Given the description of an element on the screen output the (x, y) to click on. 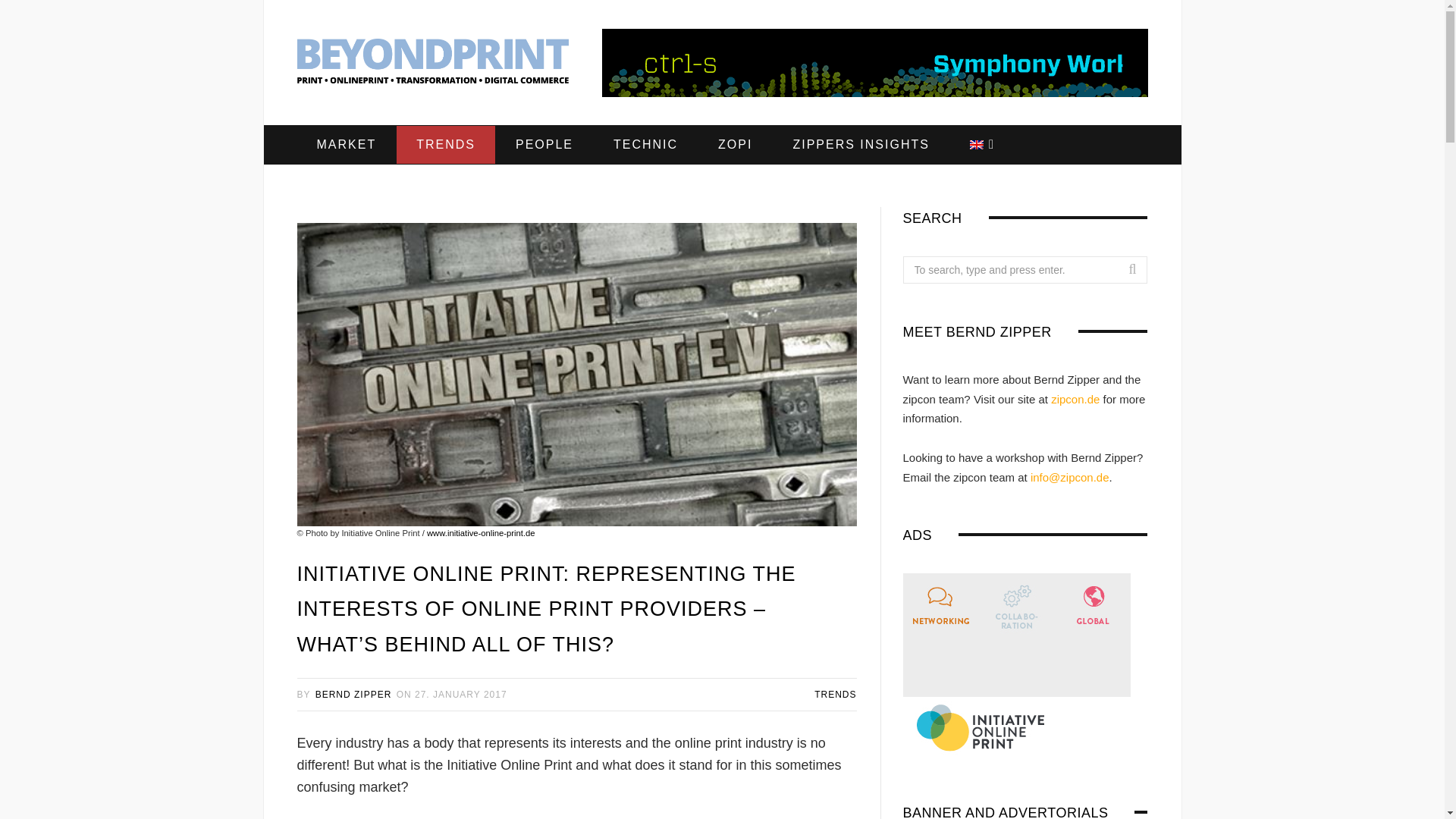
BERND ZIPPER (353, 694)
TRENDS (834, 694)
MARKET (346, 144)
TRENDS (445, 144)
ZIPPERS INSIGHTS (861, 144)
TECHNIC (645, 144)
PEOPLE (544, 144)
zipcon.de (1075, 399)
Posts by Bernd Zipper (353, 694)
ZOPI (734, 144)
